Given the description of an element on the screen output the (x, y) to click on. 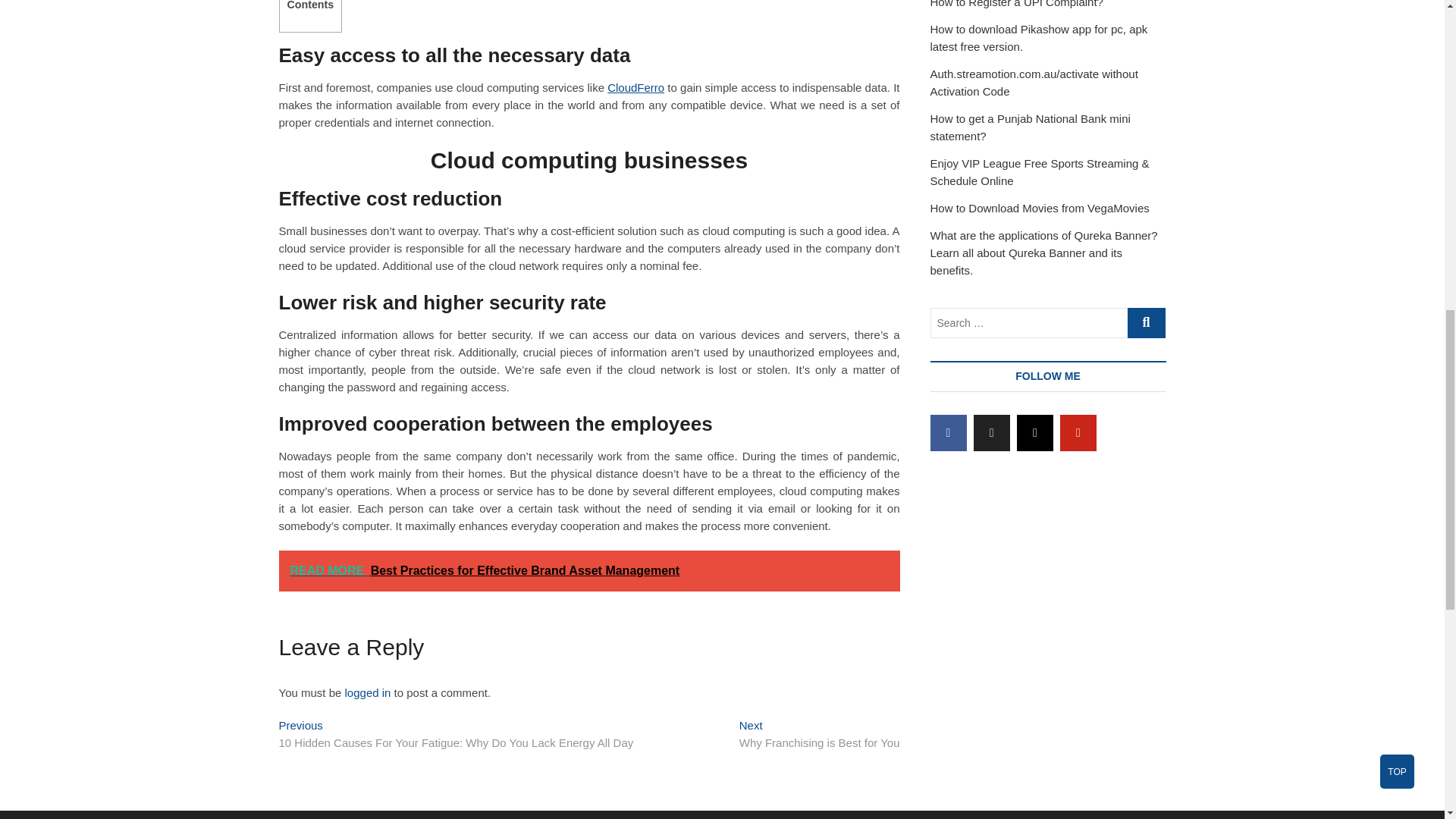
How to Register a UPI Complaint? (1016, 4)
CloudFerro (635, 87)
logged in (819, 735)
Facebook (368, 692)
